Given the description of an element on the screen output the (x, y) to click on. 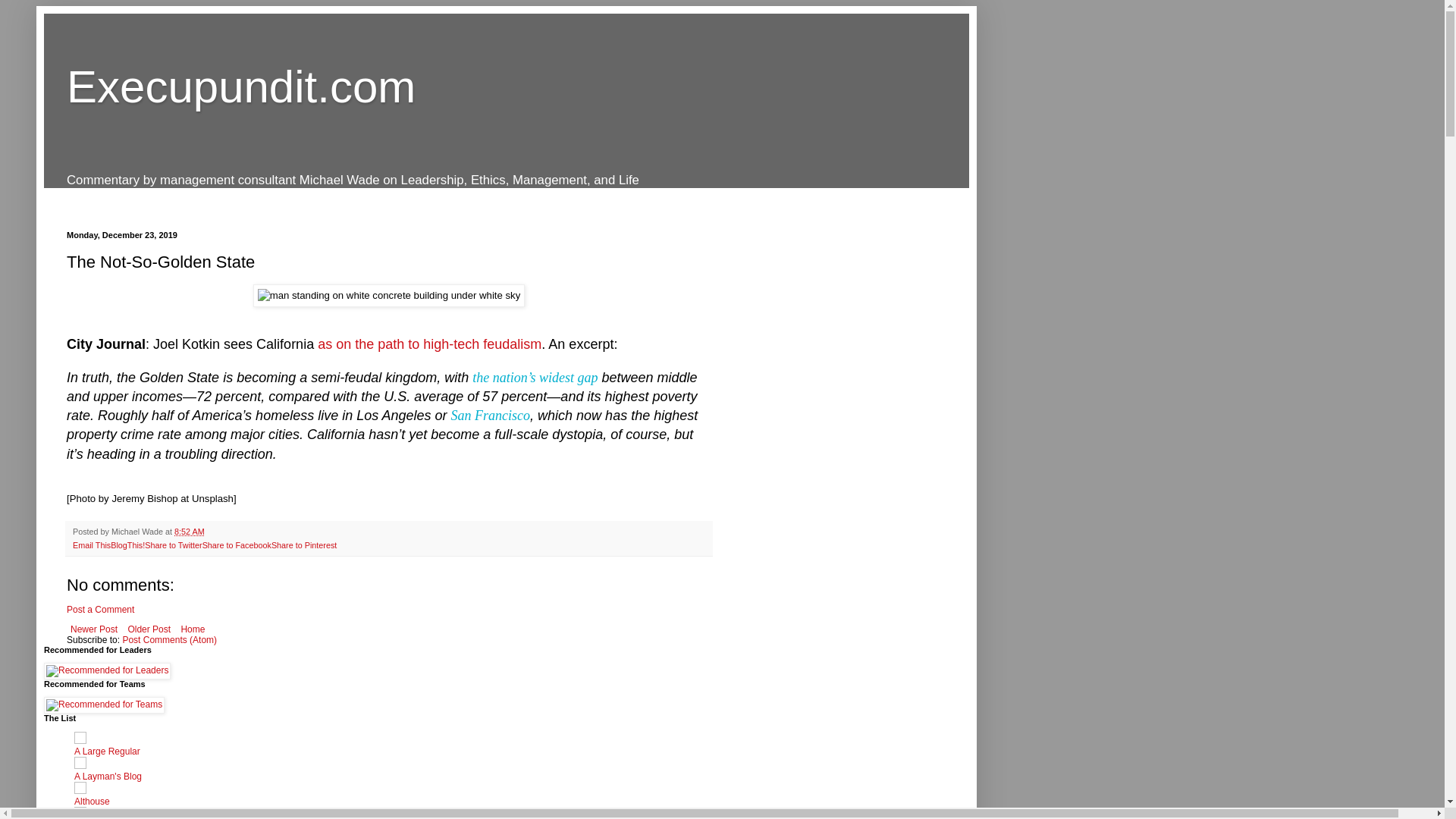
Home (192, 628)
as on the path to high-tech feudalism (429, 344)
San Francisco (490, 415)
Older Post (148, 628)
Older Post (148, 628)
Share to Facebook (236, 544)
Share to Pinterest (303, 544)
Share to Pinterest (303, 544)
8:52 AM (189, 531)
Newer Post (93, 628)
A Layman's Blog (107, 776)
BlogThis! (127, 544)
Share to Twitter (173, 544)
Email This (91, 544)
permanent link (189, 531)
